Given the description of an element on the screen output the (x, y) to click on. 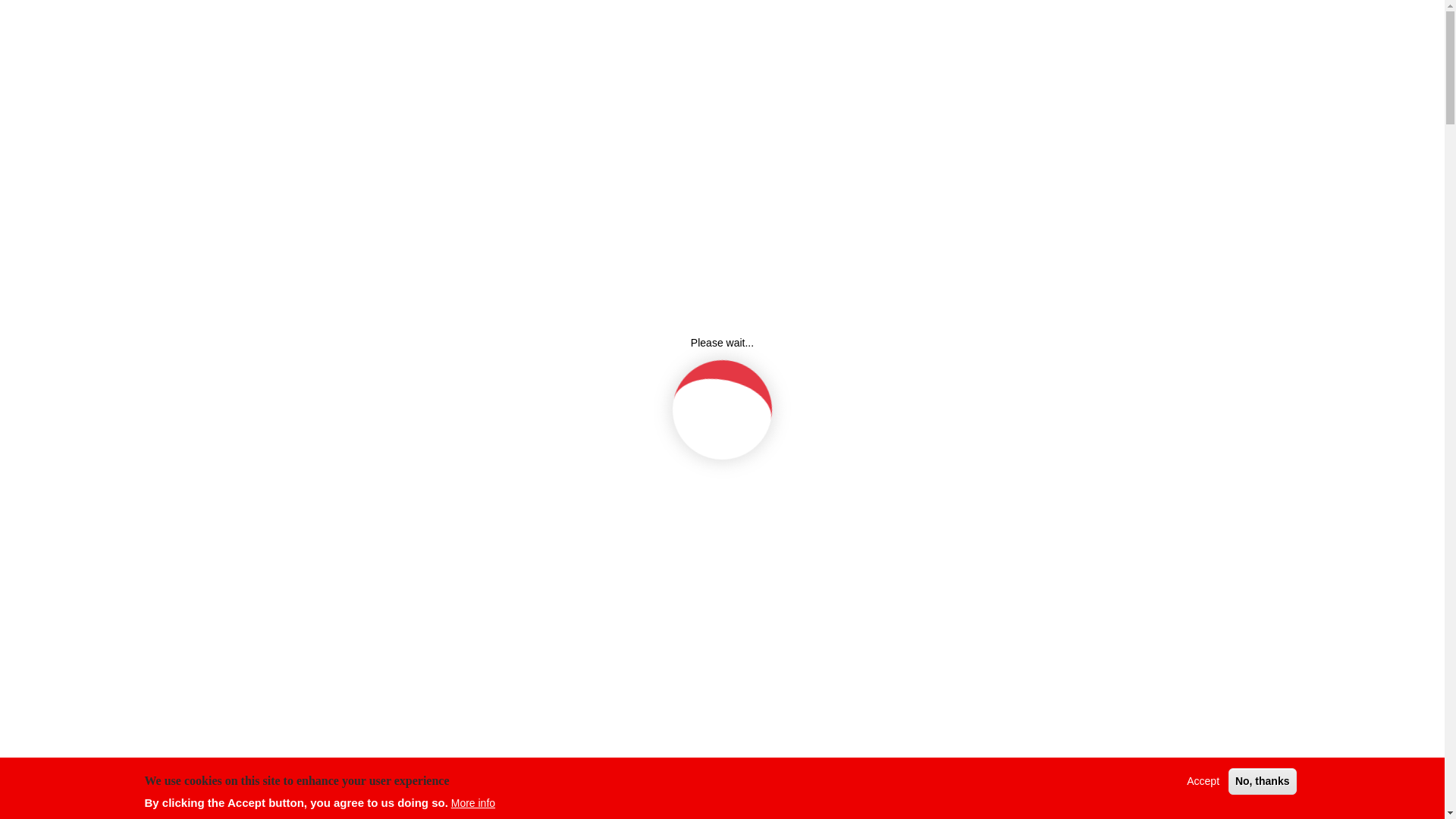
AWARDS (877, 100)
More info (473, 803)
No, thanks (1262, 781)
English (469, 100)
PRODUCTS (788, 100)
Accept (1202, 781)
ONLINE SHOP (971, 100)
ABOUT US (691, 100)
Deutsch (518, 100)
